Given the description of an element on the screen output the (x, y) to click on. 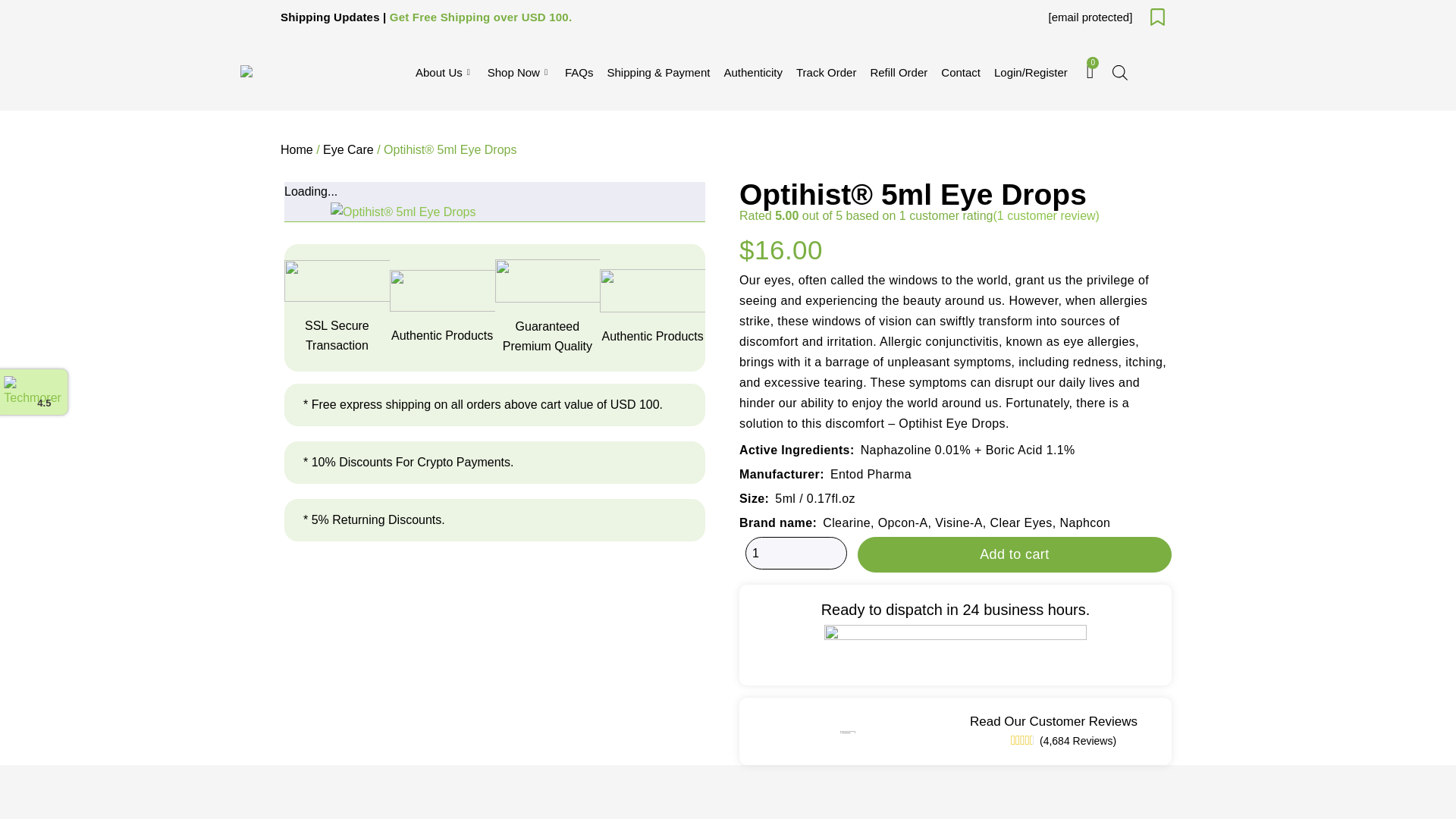
Shop Now (518, 72)
Authenticity (752, 72)
1 (796, 553)
Refill Order (898, 72)
About Us (444, 72)
Track Order (826, 72)
